Given the description of an element on the screen output the (x, y) to click on. 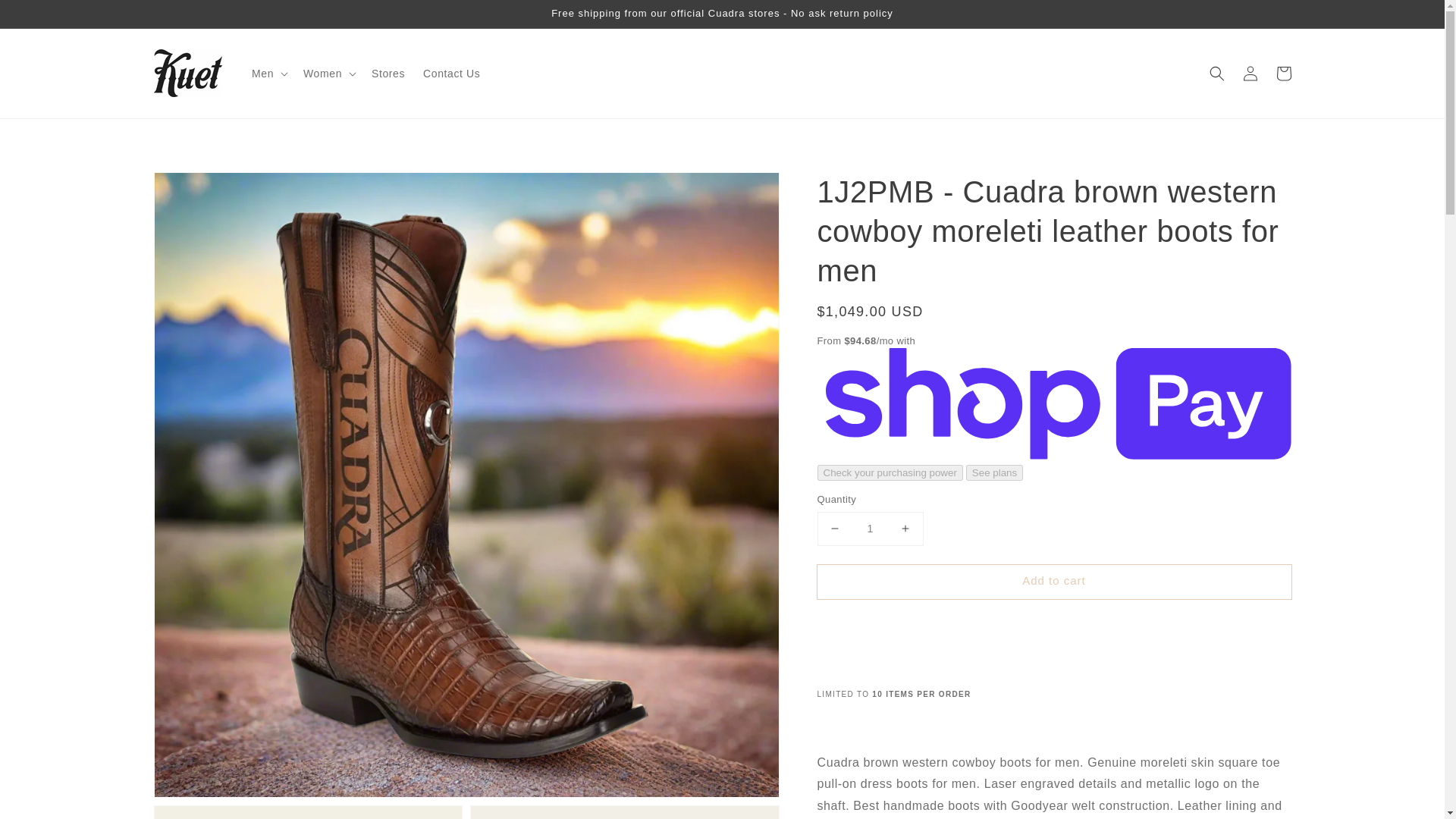
1 (869, 528)
Skip to content (45, 16)
